Given the description of an element on the screen output the (x, y) to click on. 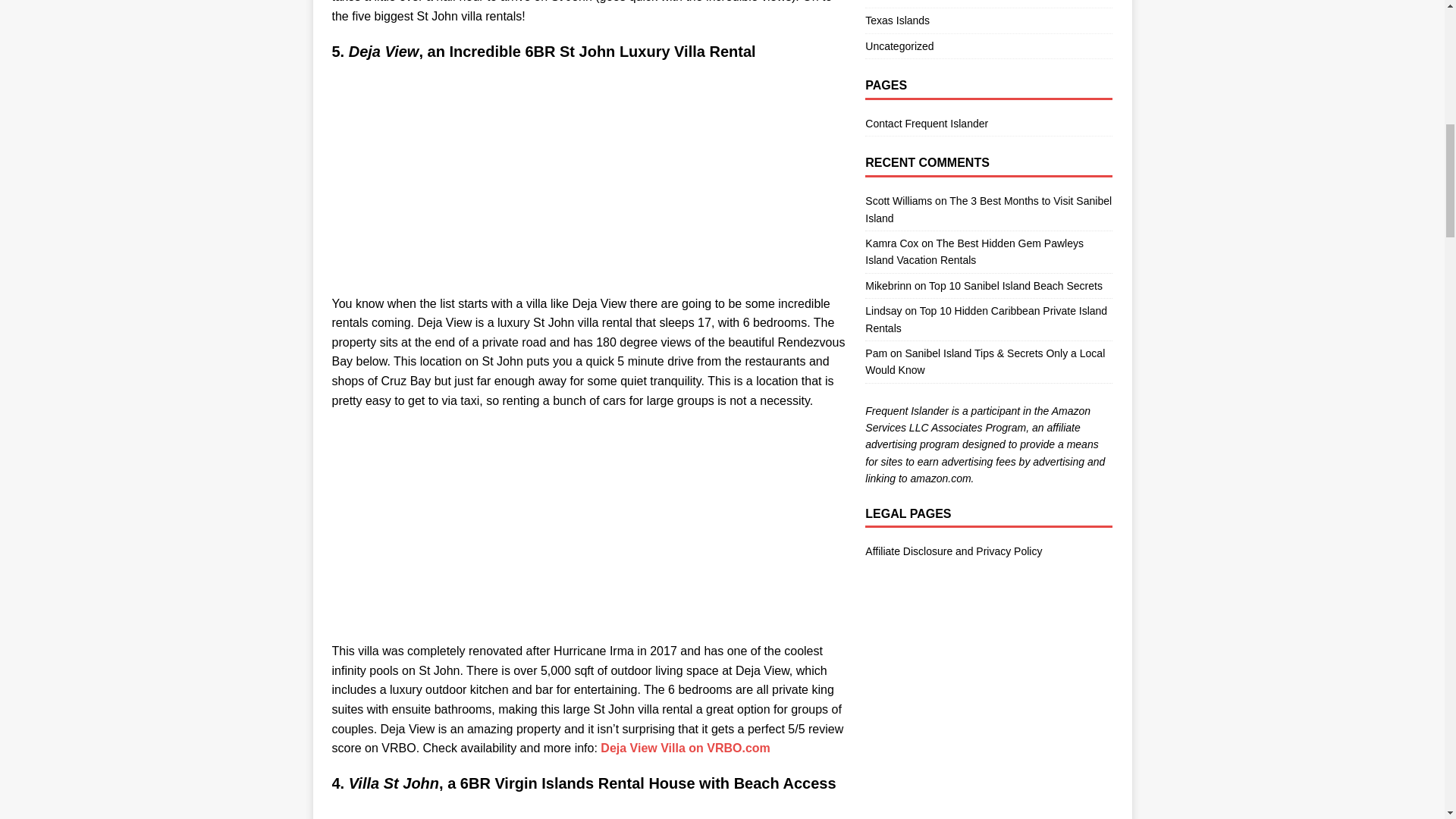
Deja View Villa on VRBO.com (684, 748)
